Given the description of an element on the screen output the (x, y) to click on. 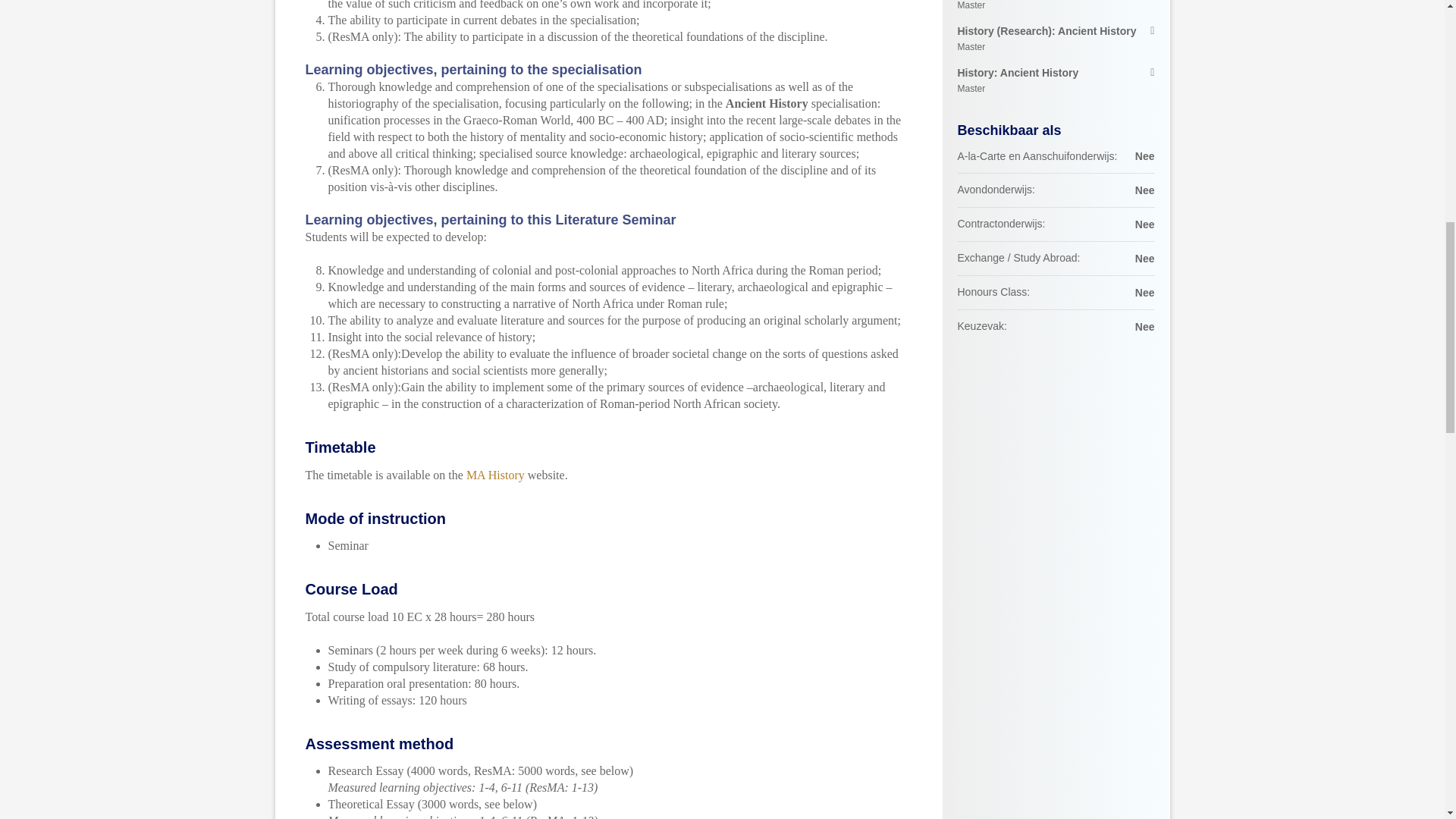
MA History (494, 474)
